Given the description of an element on the screen output the (x, y) to click on. 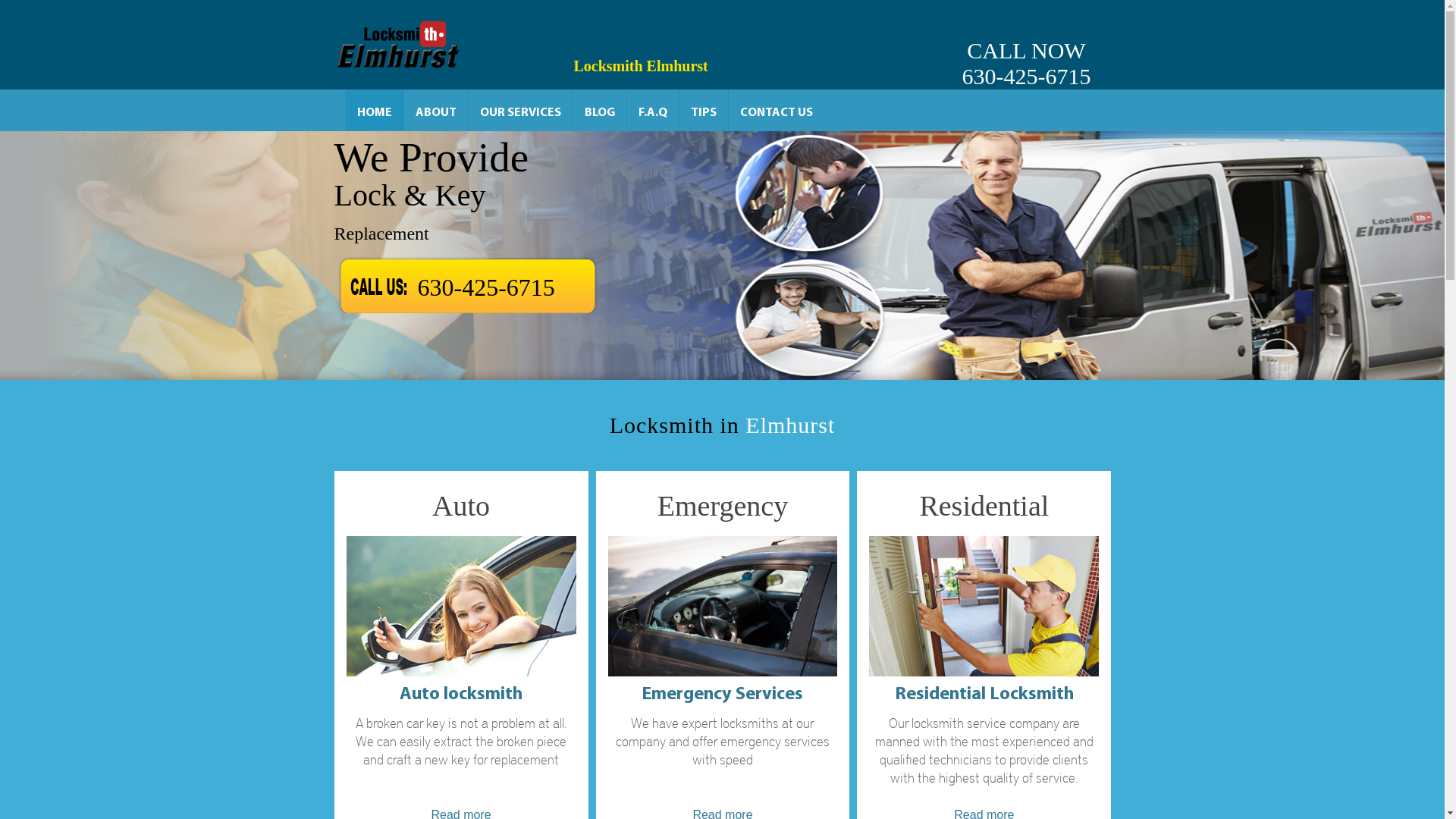
CONTACT US Element type: text (775, 109)
CALL NOW
630-425-6715 Element type: text (1025, 44)
TIPS Element type: text (703, 109)
BLOG Element type: text (599, 109)
630-425-6715 Element type: text (485, 282)
F.A.Q Element type: text (651, 109)
HOME Element type: text (374, 109)
OUR SERVICES Element type: text (520, 109)
ABOUT Element type: text (435, 109)
